Given the description of an element on the screen output the (x, y) to click on. 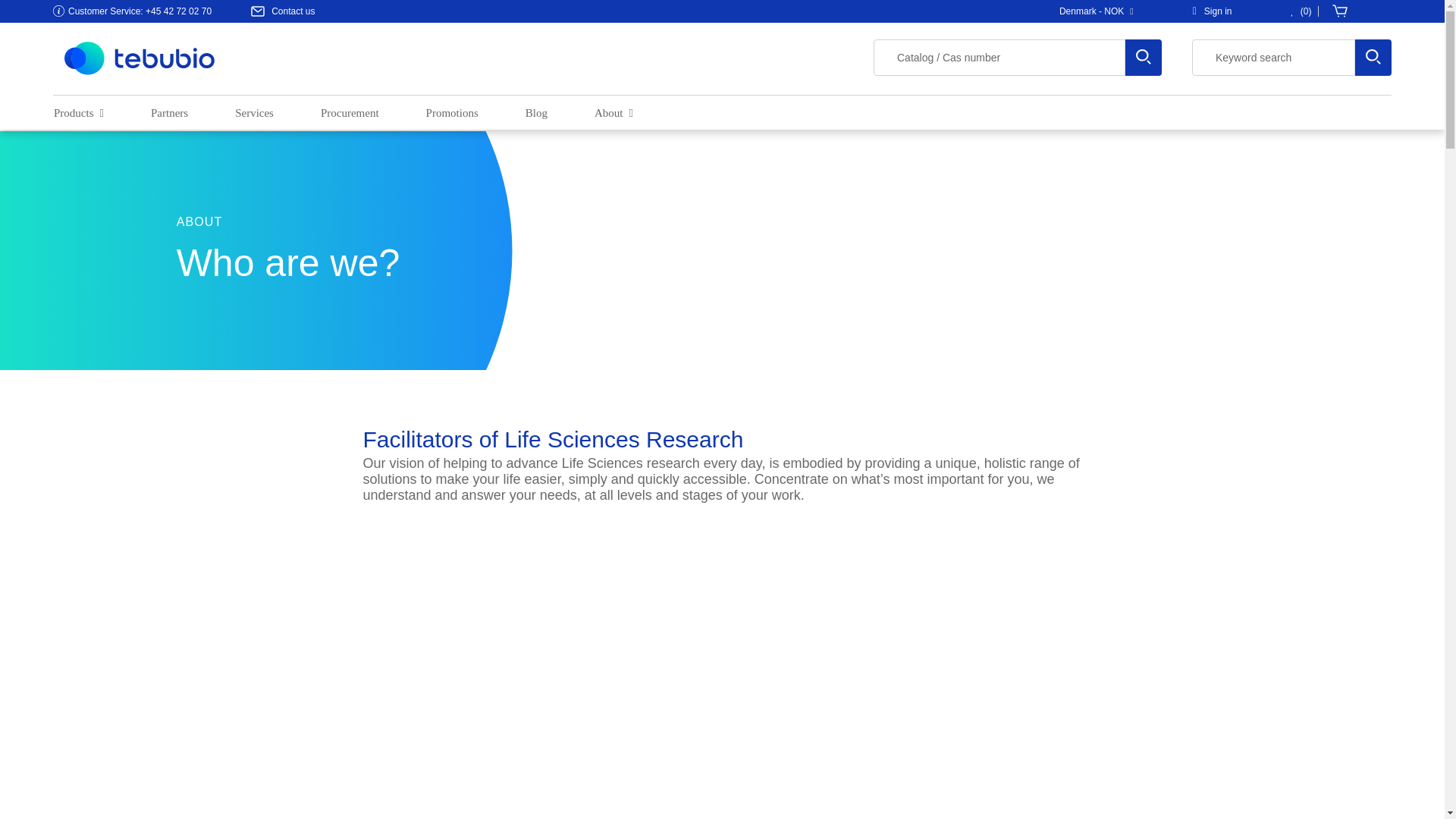
Sign in (1212, 11)
Promotions (452, 113)
Tebubio-logo.png (138, 56)
About (613, 113)
Procurement (349, 113)
Blog (536, 113)
Denmark - NOK (1099, 11)
Partners (169, 113)
Products (78, 113)
Sign in (1212, 11)
